Given the description of an element on the screen output the (x, y) to click on. 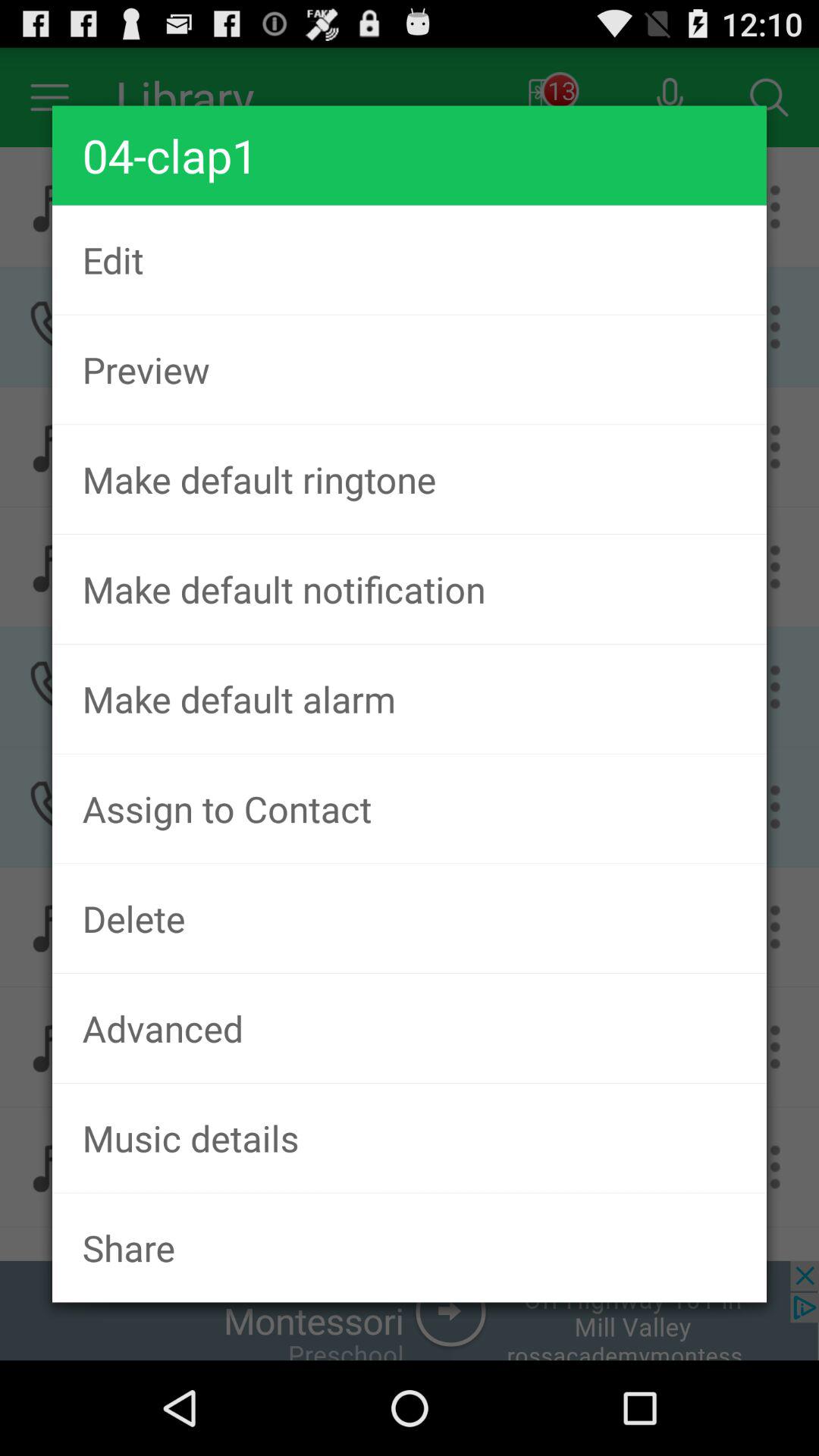
swipe to assign to contact app (409, 808)
